Given the description of an element on the screen output the (x, y) to click on. 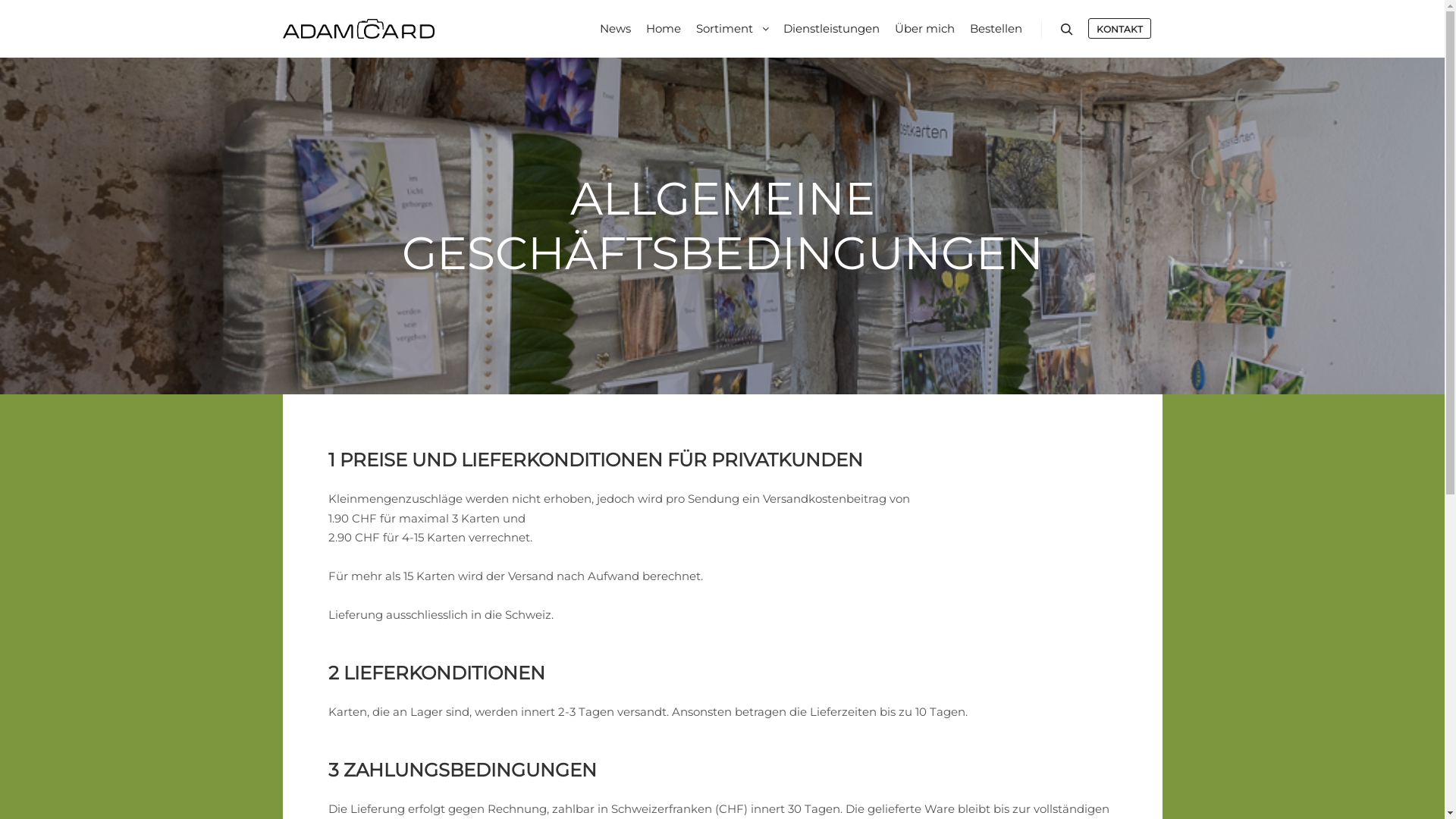
News Element type: text (614, 28)
adamcard.ch Element type: hover (357, 28)
Sortiment Element type: text (722, 28)
Bestellen Element type: text (995, 28)
KONTAKT Element type: text (1118, 28)
Suchen Element type: text (1065, 29)
Home Element type: text (663, 28)
Dienstleistungen Element type: text (830, 28)
